Given the description of an element on the screen output the (x, y) to click on. 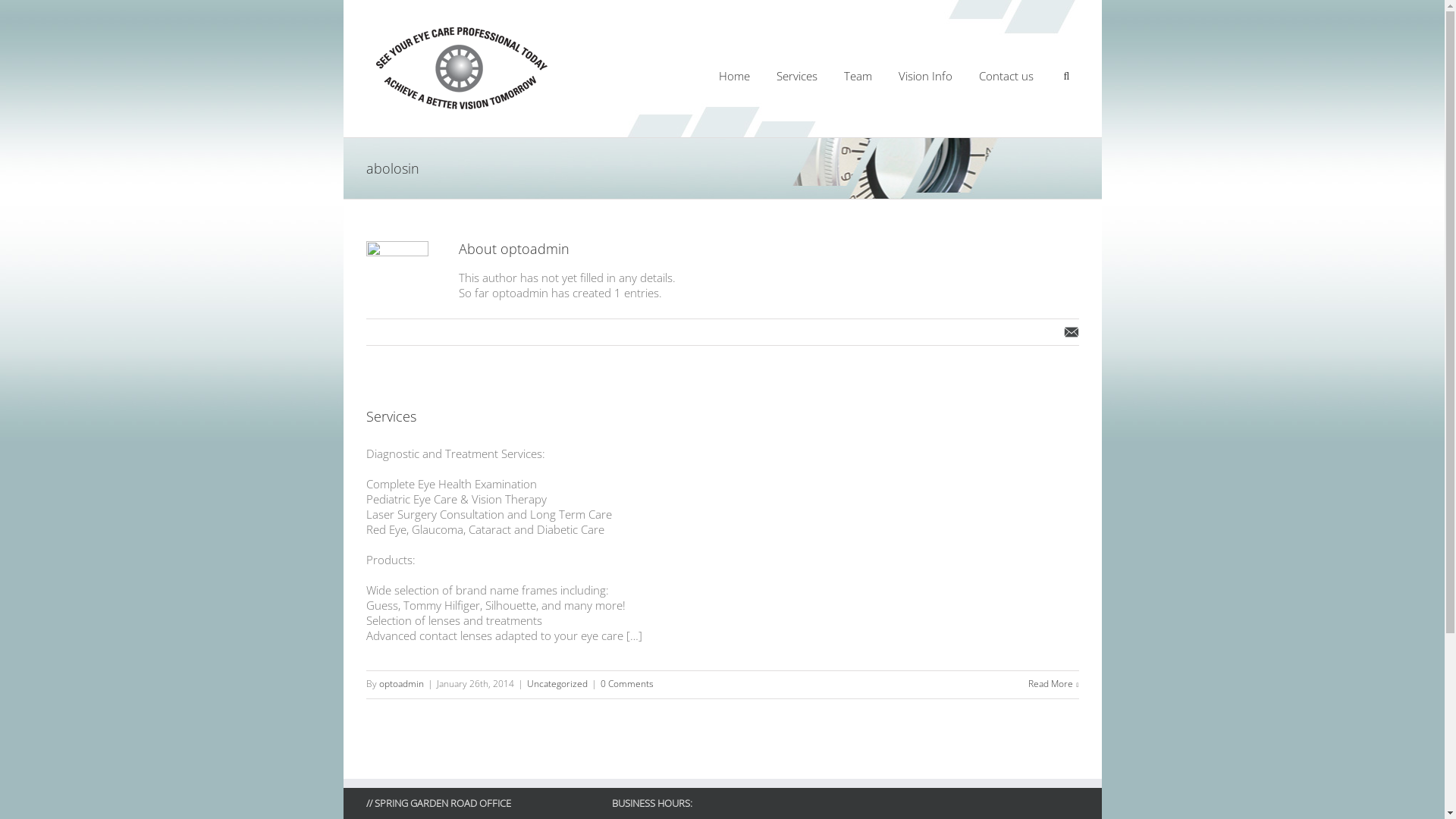
Services Element type: text (796, 74)
Email Element type: text (1070, 331)
Services Element type: text (390, 416)
0 Comments Element type: text (626, 683)
Contact us Element type: text (1005, 74)
Vision Info Element type: text (924, 74)
Home Element type: text (733, 74)
Team Element type: text (857, 74)
Uncategorized Element type: text (556, 683)
optoadmin Element type: text (401, 683)
Read More Element type: text (1053, 683)
